Given the description of an element on the screen output the (x, y) to click on. 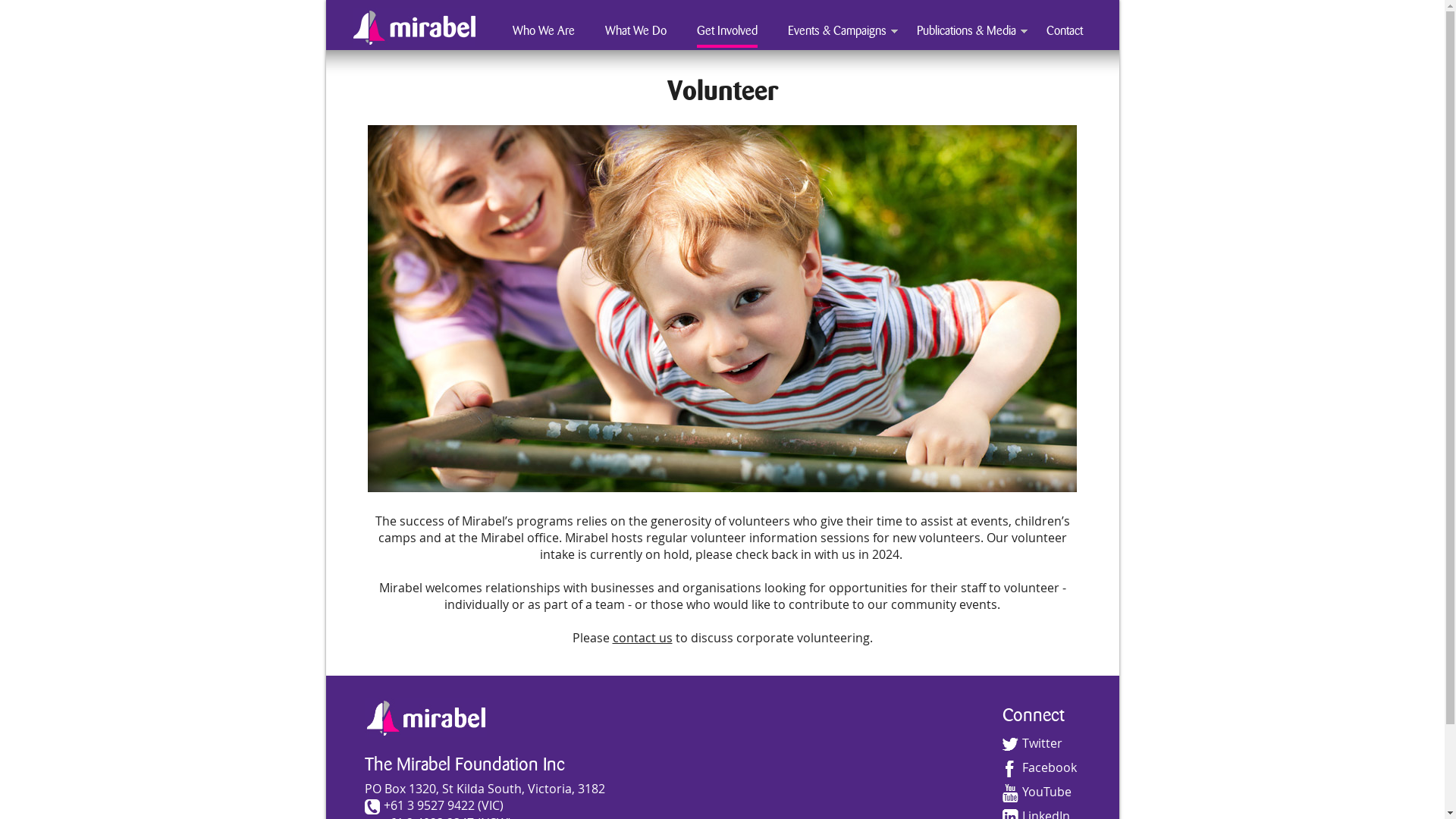
Events & Campaigns Element type: text (835, 30)
Contact Element type: text (1064, 30)
Get Involved Element type: text (725, 30)
YouTube Element type: text (1036, 791)
Publications & Media Element type: text (965, 30)
contact us Element type: text (642, 637)
Who We Are Element type: text (543, 30)
Facebook Element type: text (1039, 767)
Twitter Element type: text (1032, 742)
What We Do Element type: text (635, 30)
